Given the description of an element on the screen output the (x, y) to click on. 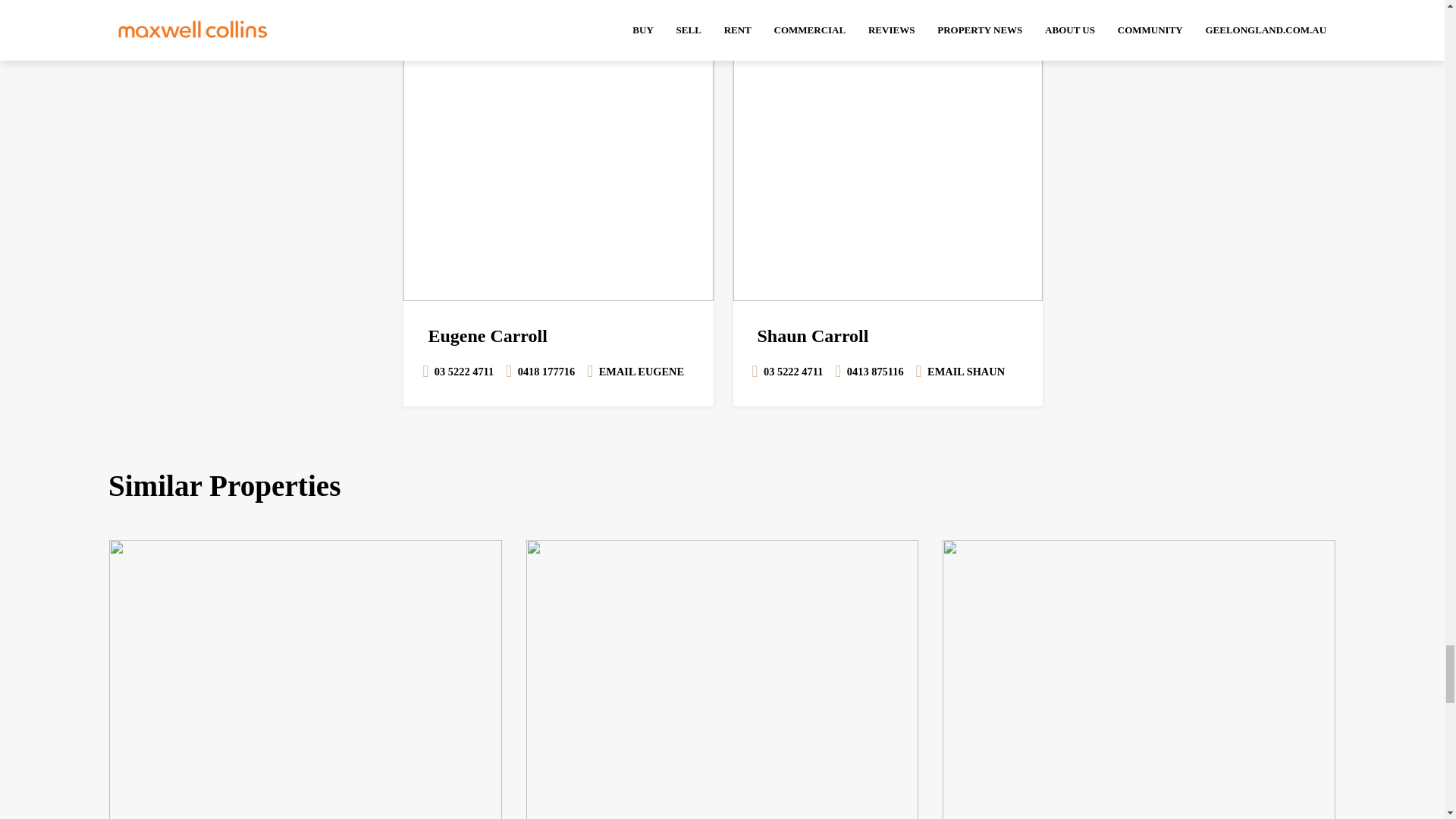
Shaun Carroll (887, 150)
High Profile Site (721, 679)
A Place to Call Home (305, 679)
Superb Family Living (1138, 679)
Eugene Carroll (558, 150)
